Given the description of an element on the screen output the (x, y) to click on. 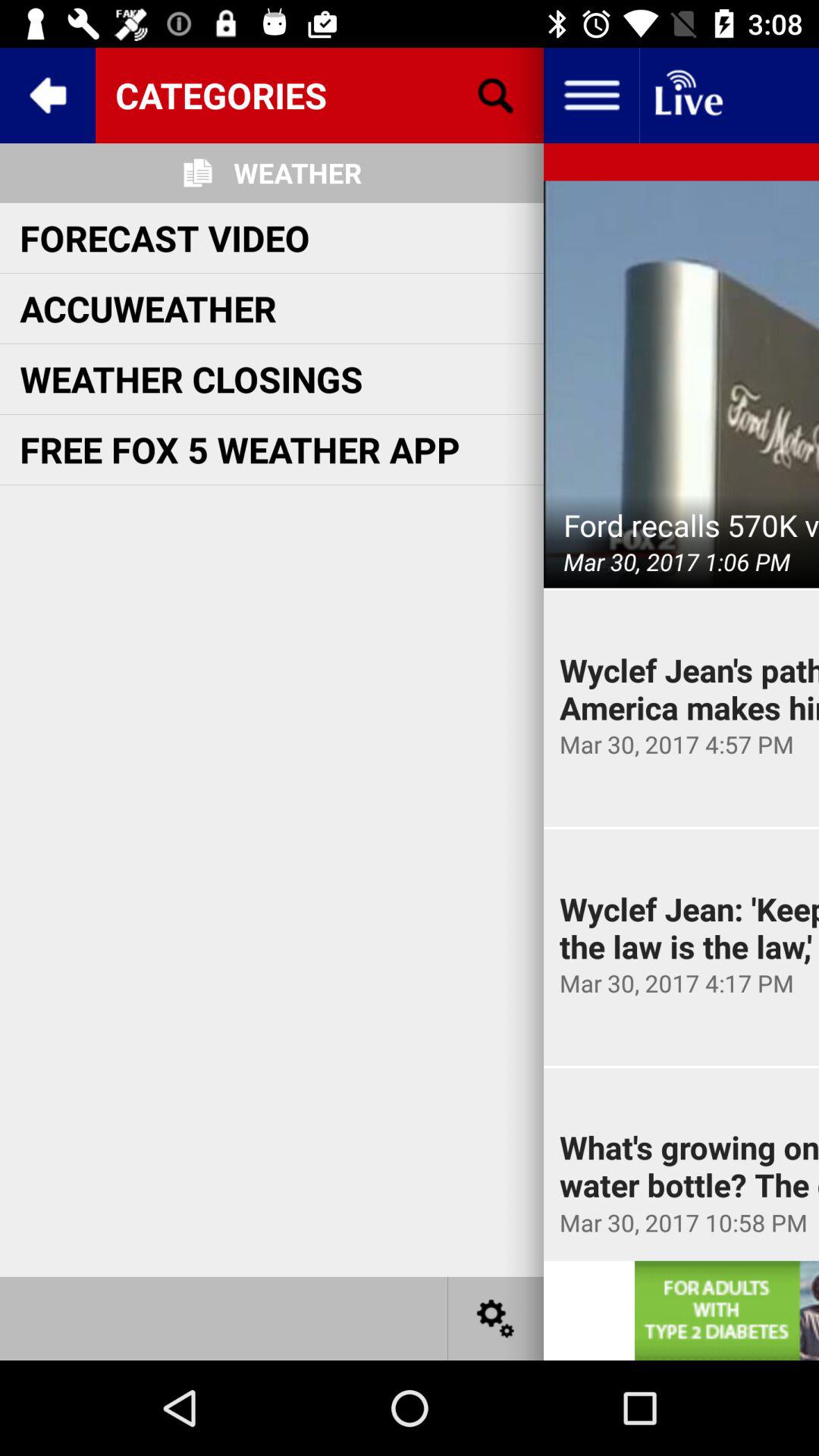
go back (47, 95)
